Given the description of an element on the screen output the (x, y) to click on. 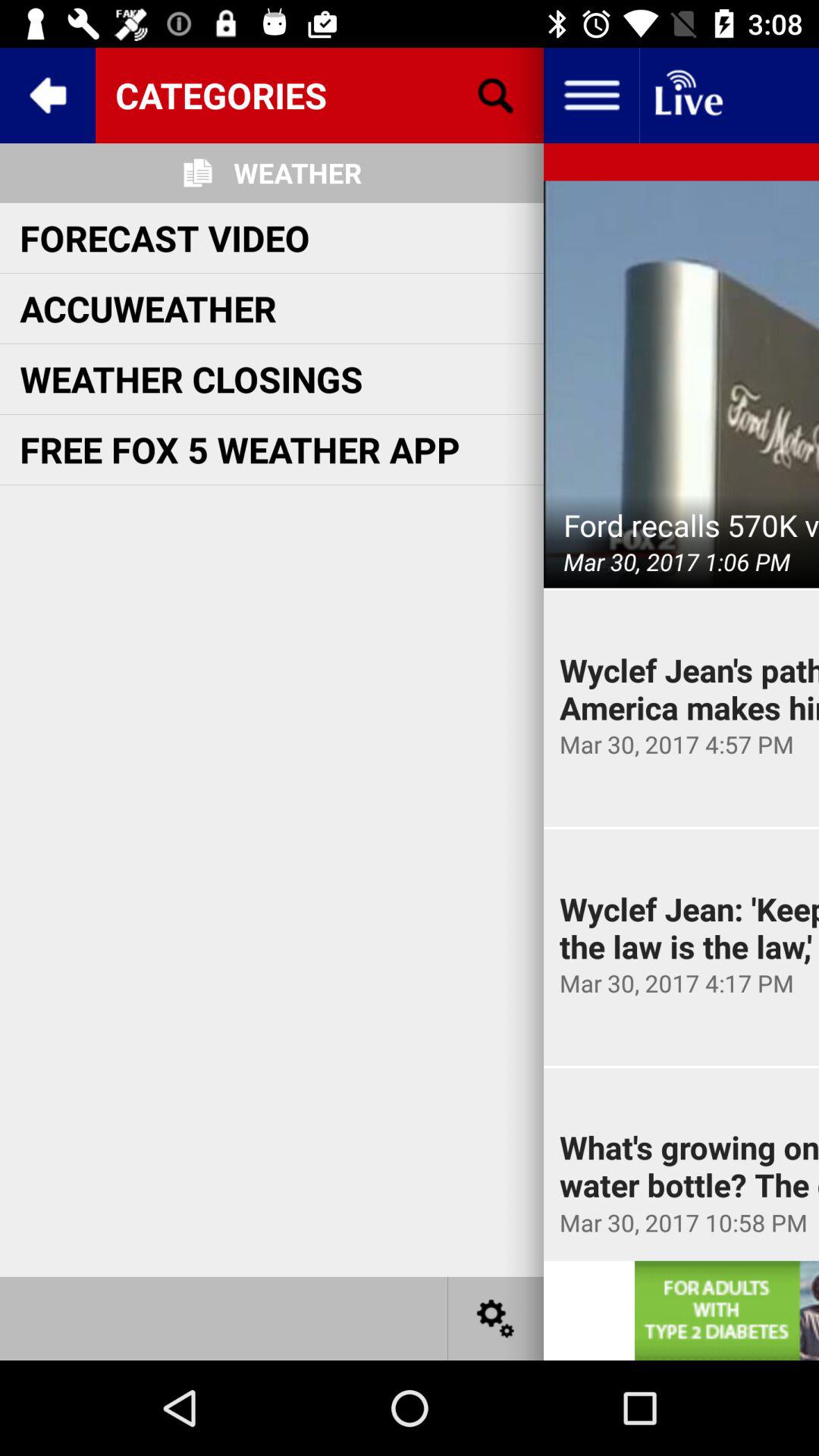
go back (47, 95)
